Given the description of an element on the screen output the (x, y) to click on. 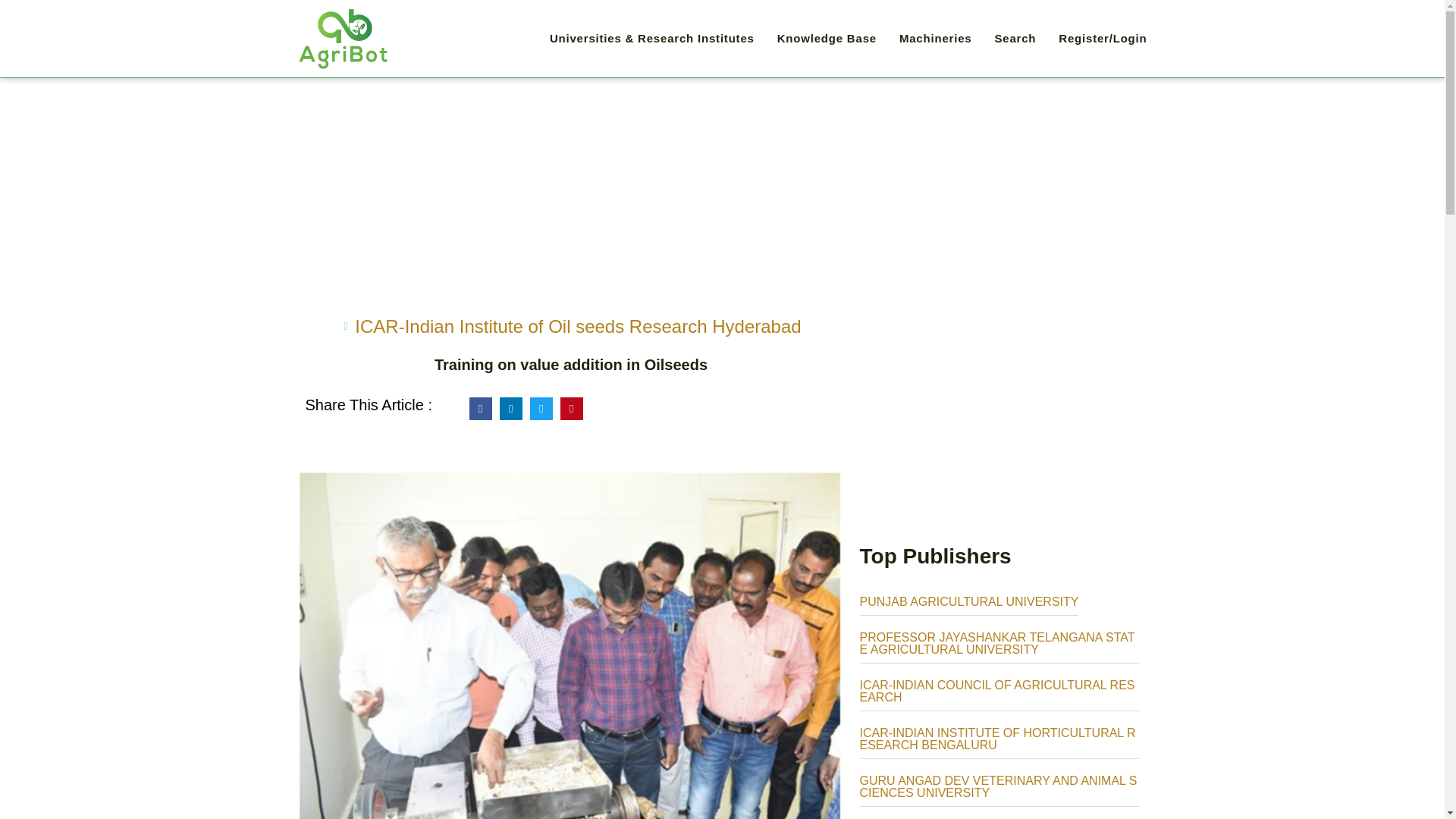
Advertisement (1003, 418)
ICAR-Indian Institute of Oil seeds Research Hyderabad (577, 326)
Machineries (935, 38)
Knowledge Base (826, 38)
Training on value addition in Oilseeds (570, 364)
